Given the description of an element on the screen output the (x, y) to click on. 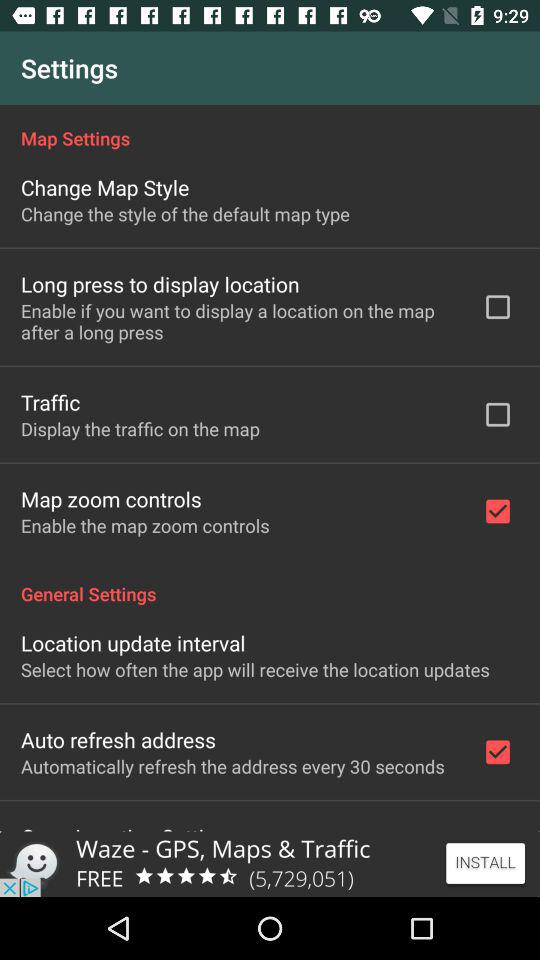
open the item below settings icon (270, 127)
